Given the description of an element on the screen output the (x, y) to click on. 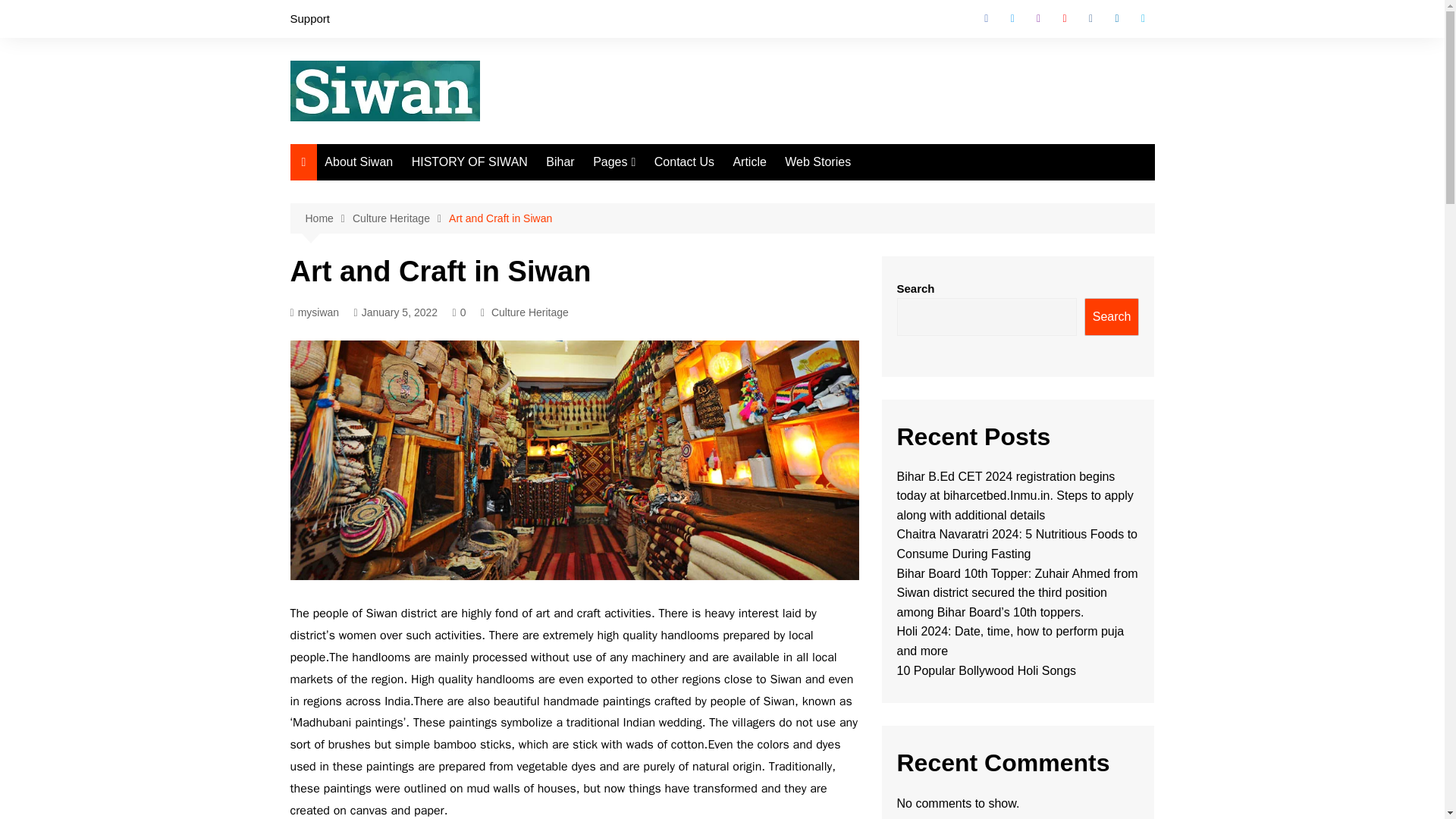
Web Stories (818, 162)
HISTORY OF SIWAN (469, 162)
Search Page (668, 217)
Art and Craft in Siwan (499, 217)
Twitter (1012, 18)
Support (309, 18)
Pages (614, 162)
VK (1091, 18)
January 5, 2022 (395, 312)
About Siwan (358, 162)
Home (328, 218)
Linkedin (1116, 18)
